Given the description of an element on the screen output the (x, y) to click on. 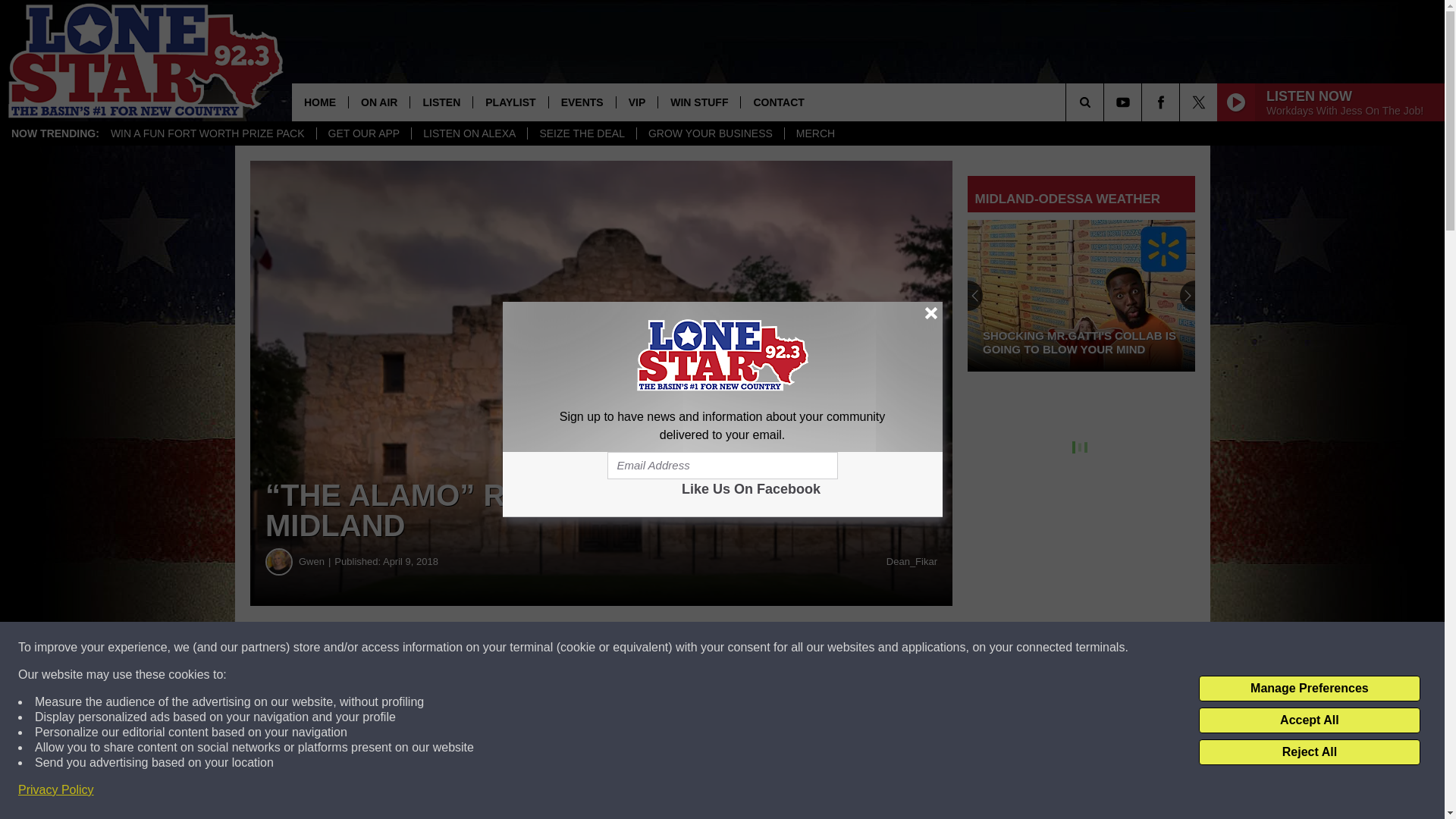
Manage Preferences (1309, 688)
SEARCH (1106, 102)
EVENTS (581, 102)
HOME (319, 102)
SEIZE THE DEAL (581, 133)
WIN A FUN FORT WORTH PRIZE PACK (207, 133)
Privacy Policy (55, 789)
GROW YOUR BUSINESS (710, 133)
Share on Twitter (741, 647)
GET OUR APP (363, 133)
PLAYLIST (509, 102)
Share on Facebook (460, 647)
VIP (636, 102)
Accept All (1309, 720)
SEARCH (1106, 102)
